Given the description of an element on the screen output the (x, y) to click on. 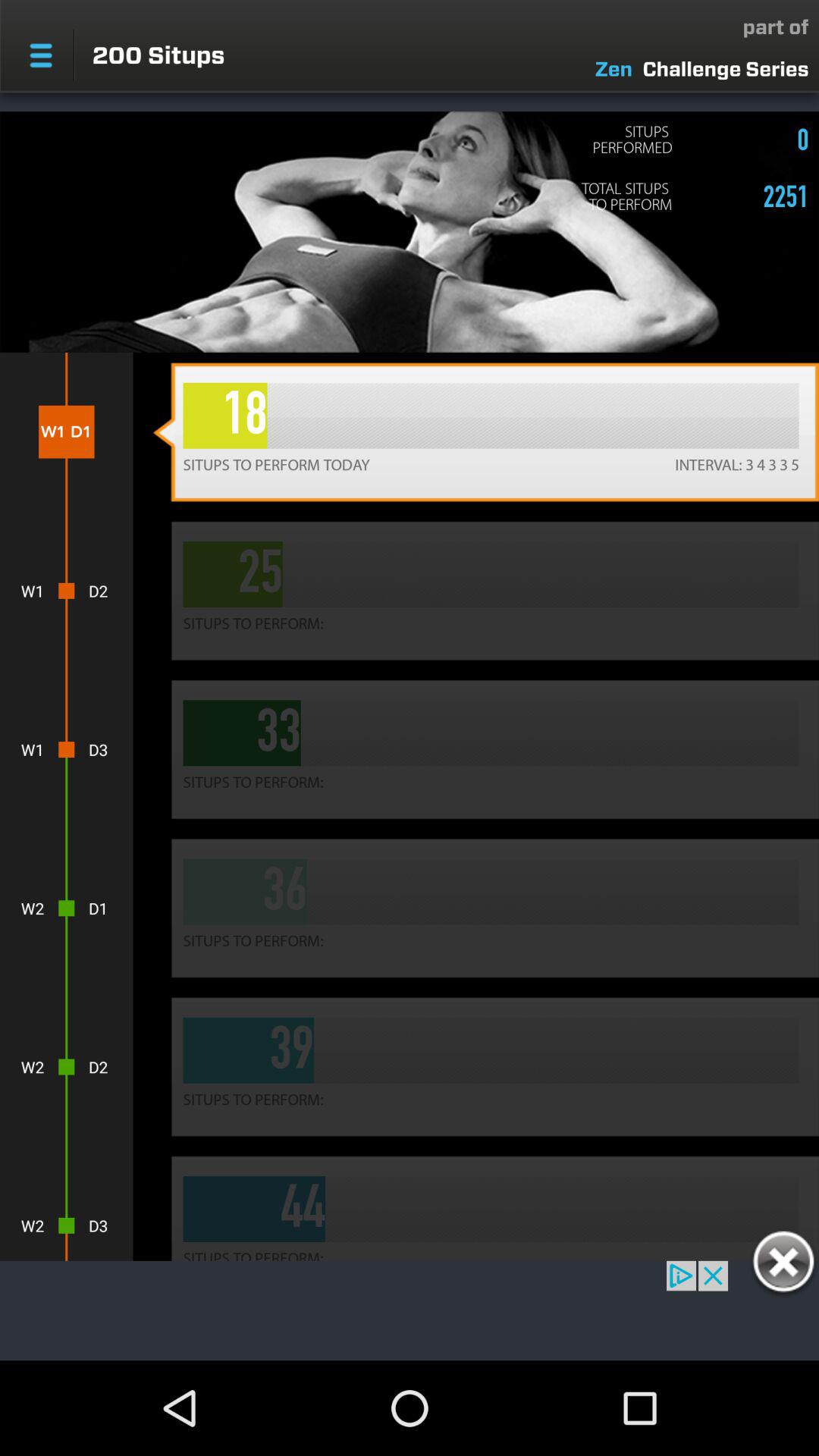
menu pega (40, 55)
